Given the description of an element on the screen output the (x, y) to click on. 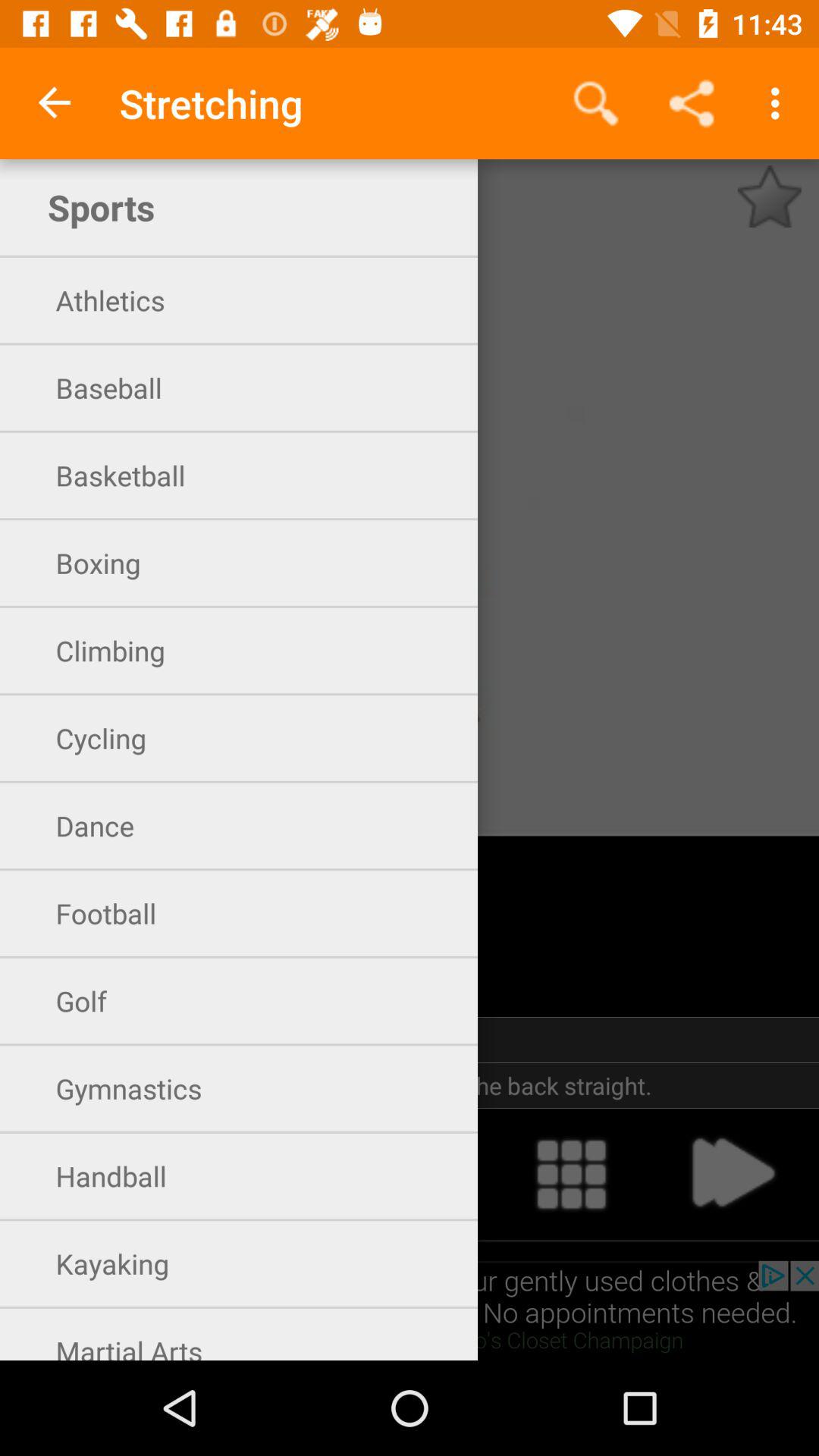
save the stretches (769, 196)
